Given the description of an element on the screen output the (x, y) to click on. 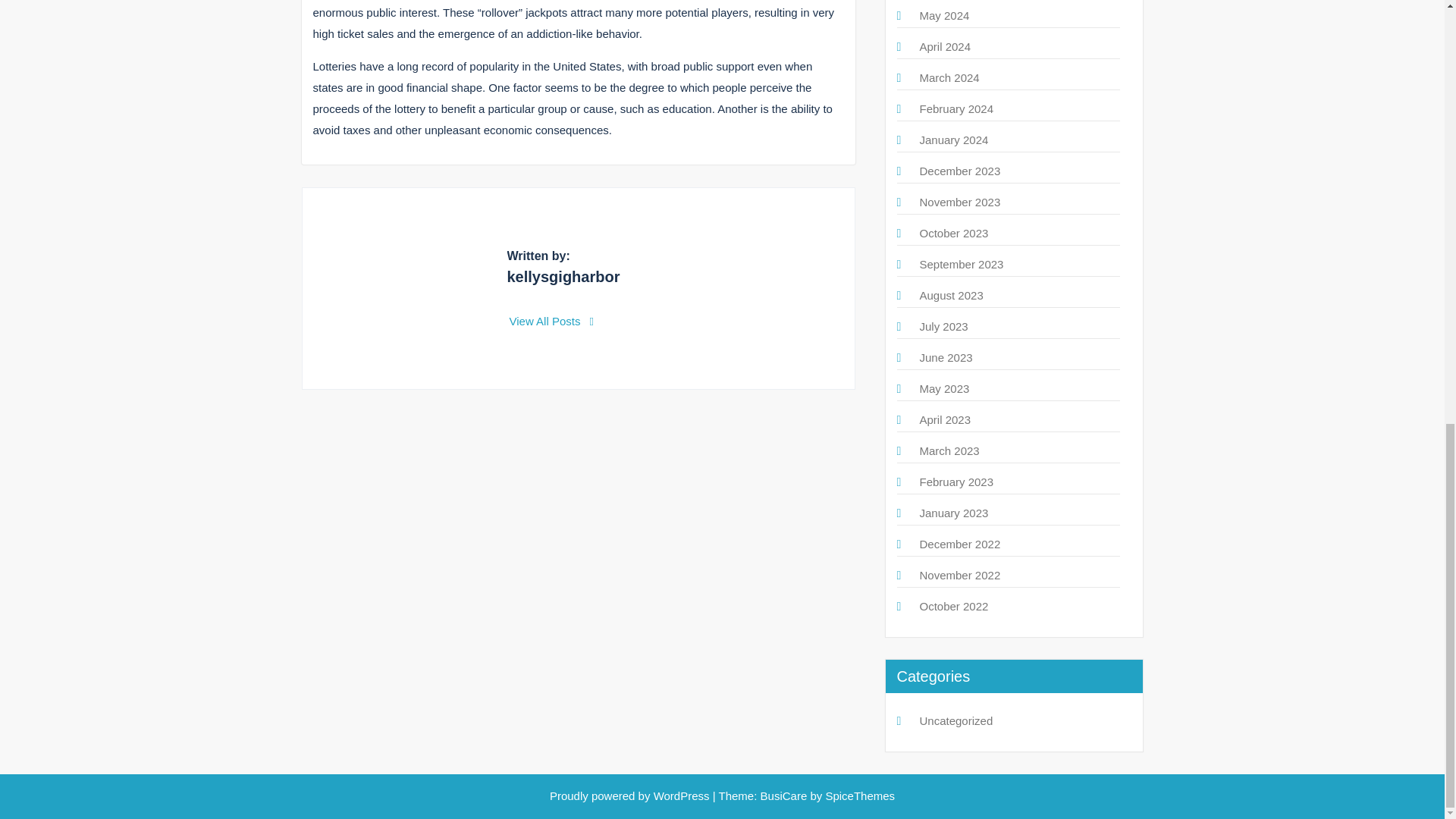
October 2023 (953, 232)
April 2024 (944, 46)
September 2023 (960, 264)
February 2023 (955, 481)
February 2024 (955, 108)
March 2024 (948, 77)
View All Posts (551, 320)
March 2023 (948, 450)
December 2023 (959, 170)
July 2023 (943, 326)
